Given the description of an element on the screen output the (x, y) to click on. 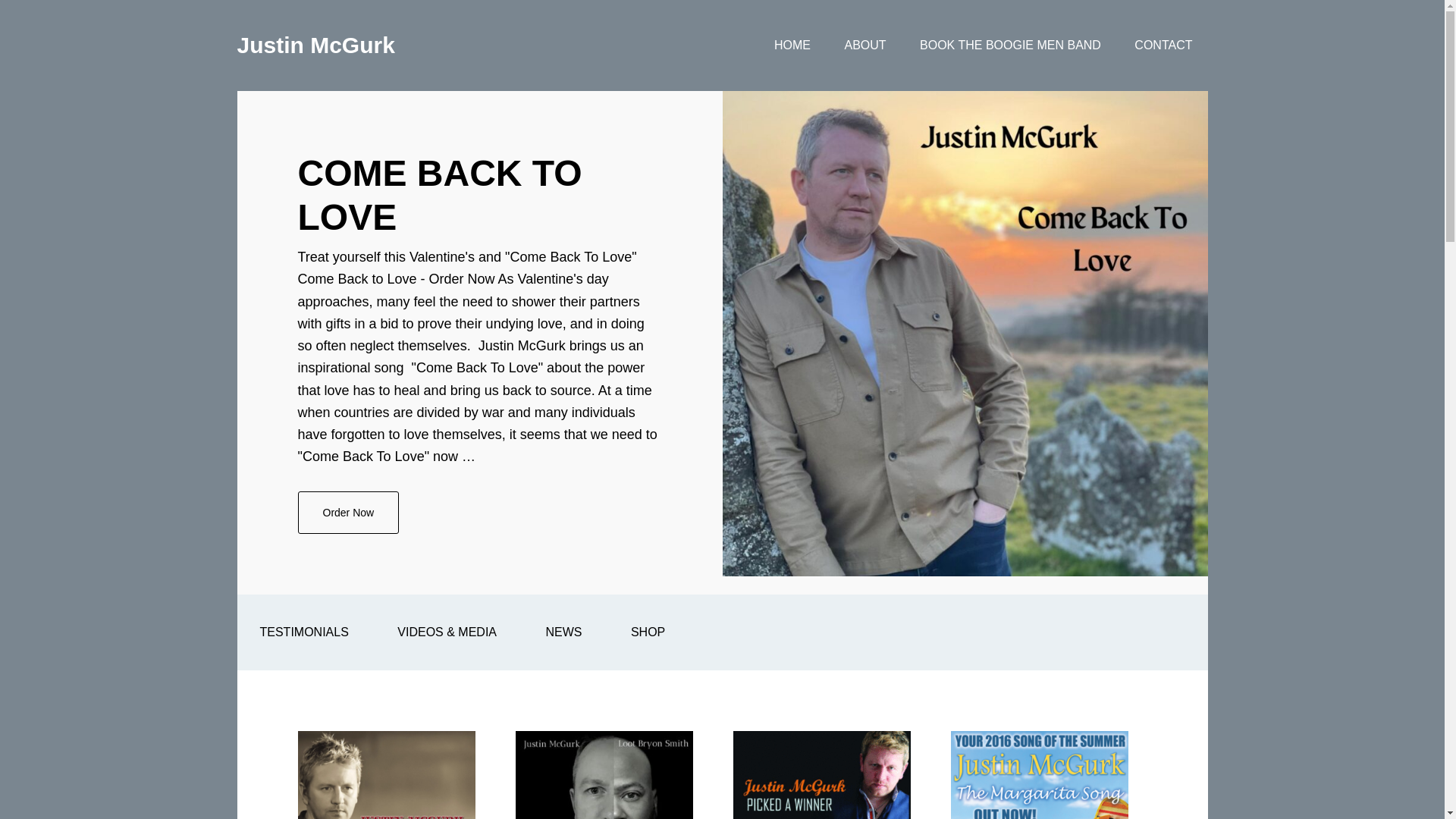
NEWS (563, 632)
BOOK THE BOOGIE MEN BAND (1010, 45)
COME BACK TO LOVE (347, 512)
CONTACT (438, 195)
TESTIMONIALS (1163, 45)
Skip to main content (303, 632)
Justin McGurk (647, 632)
